Given the description of an element on the screen output the (x, y) to click on. 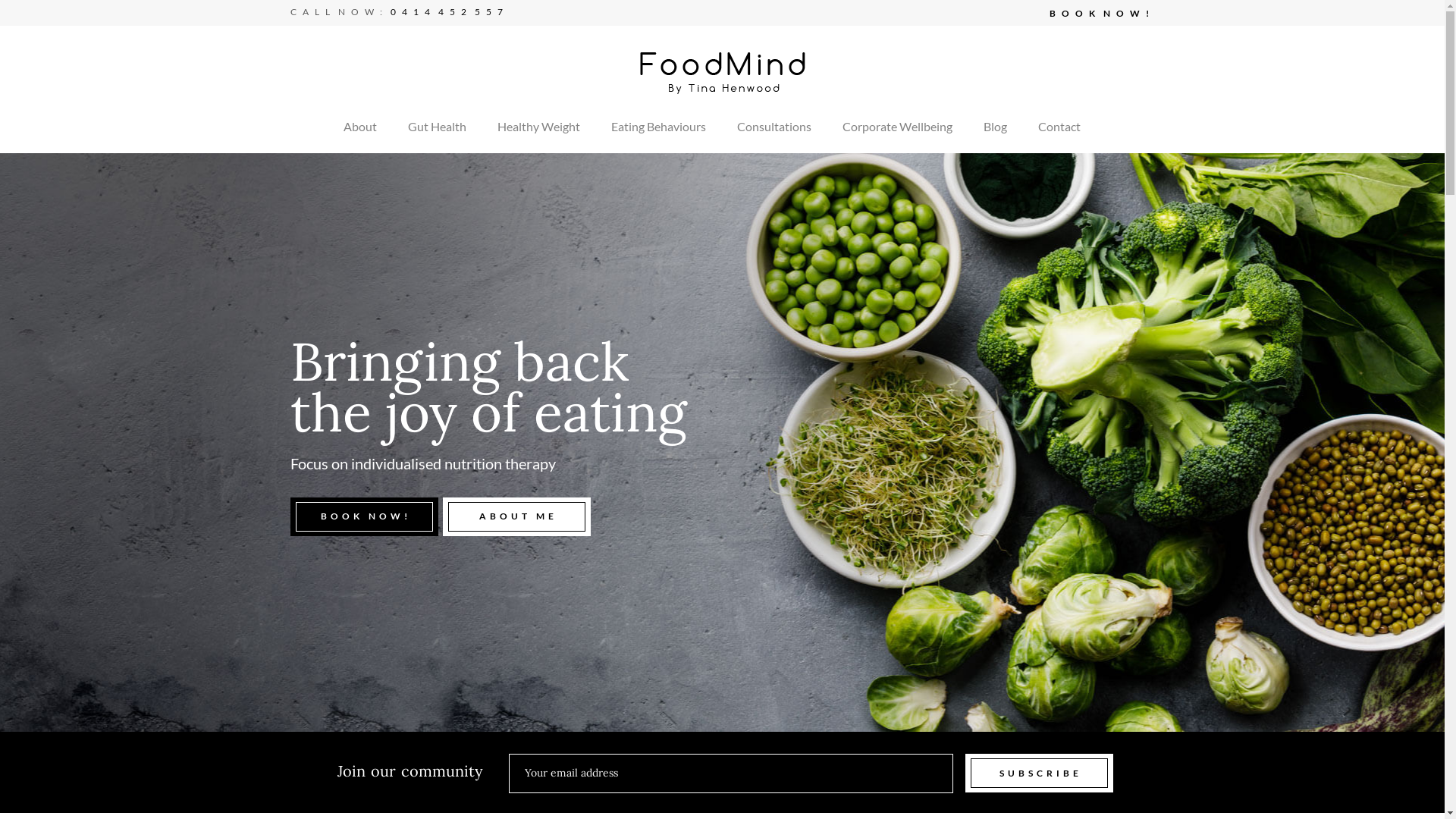
BOOK NOW! Element type: text (363, 516)
ABOUT ME Element type: text (516, 516)
Contact Element type: text (1058, 126)
About Element type: text (359, 126)
Consultations Element type: text (774, 126)
Corporate Wellbeing Element type: text (896, 126)
0414 452 557 Element type: text (448, 11)
BOOK NOW! Element type: text (1101, 12)
Eating Behaviours Element type: text (658, 126)
Gut Health Element type: text (436, 126)
Healthy Weight Element type: text (538, 126)
Blog Element type: text (994, 126)
Subscribe Element type: text (1038, 773)
